Given the description of an element on the screen output the (x, y) to click on. 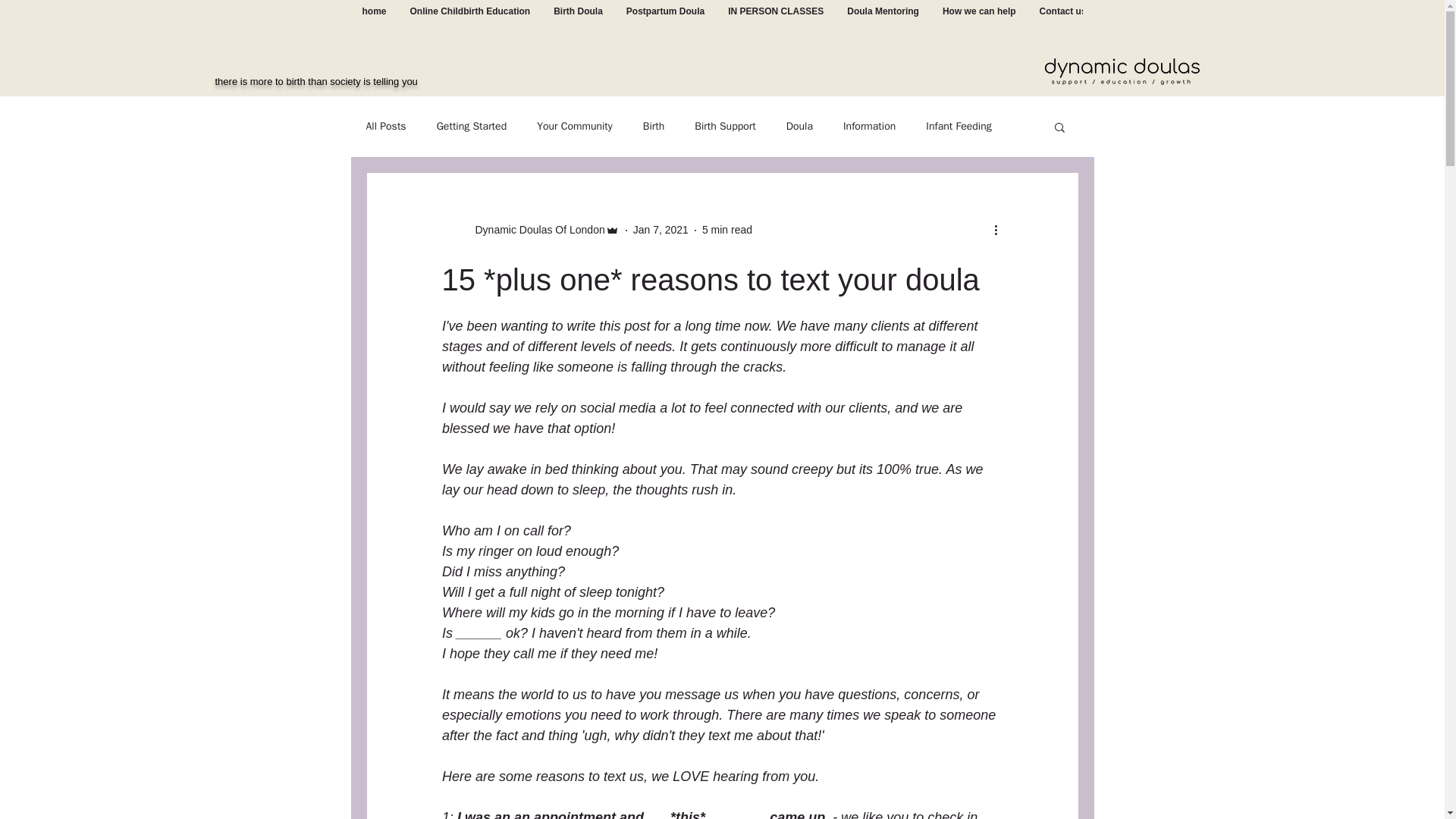
5 min read (726, 229)
Postpartum Doula (665, 21)
Getting Started (471, 126)
Information (869, 126)
Infant Feeding (958, 126)
Your Community (574, 126)
Birth Support (724, 126)
Jan 7, 2021 (660, 229)
Doula (799, 126)
Doula Mentoring (882, 21)
